Given the description of an element on the screen output the (x, y) to click on. 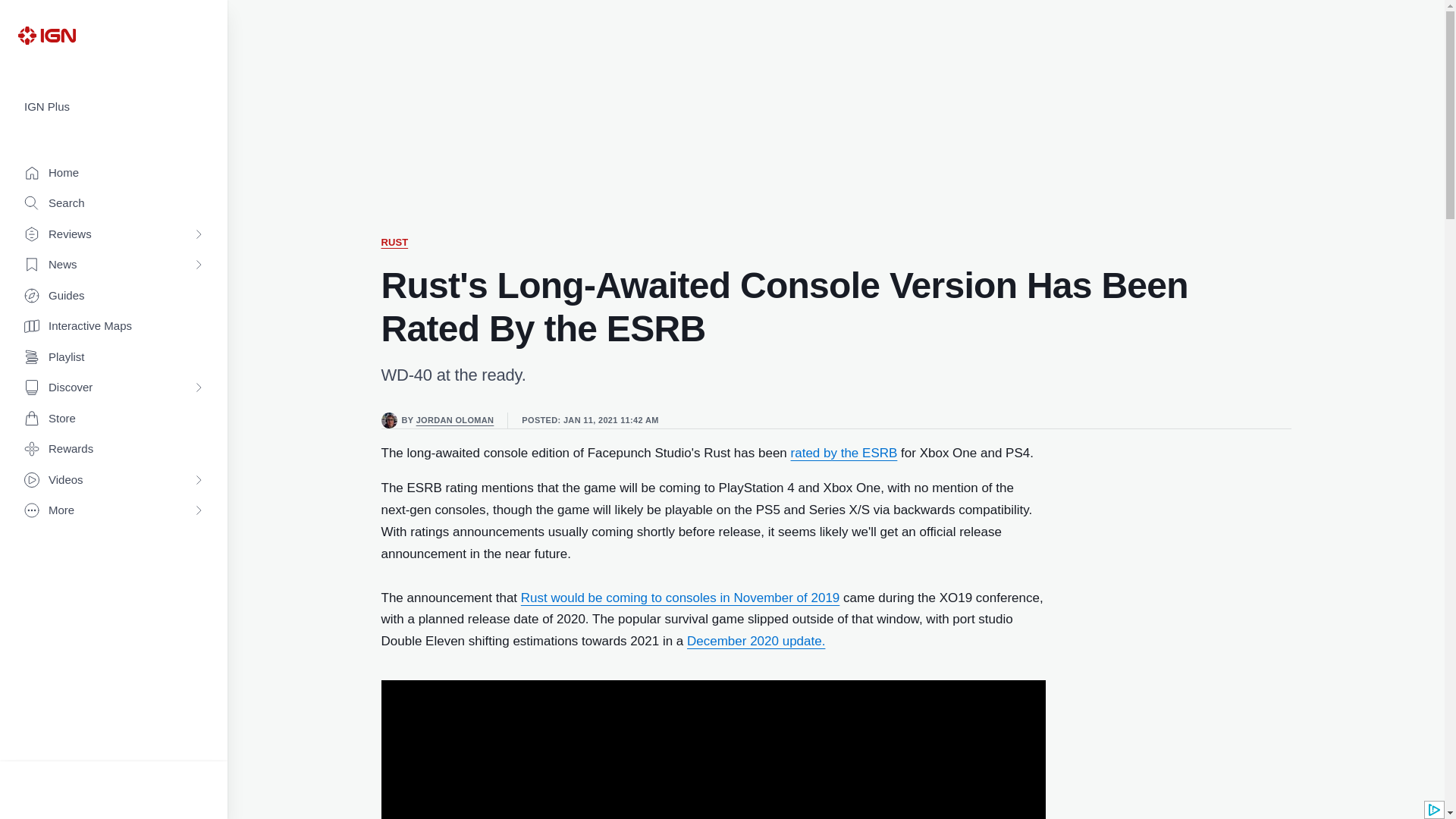
Interactive Maps (113, 326)
Rewards (113, 449)
Discover (113, 387)
IGN Plus (113, 107)
Reviews (113, 234)
Store (113, 418)
Home (113, 172)
IGN Plus (113, 107)
Playlist (113, 357)
Videos (113, 480)
